Given the description of an element on the screen output the (x, y) to click on. 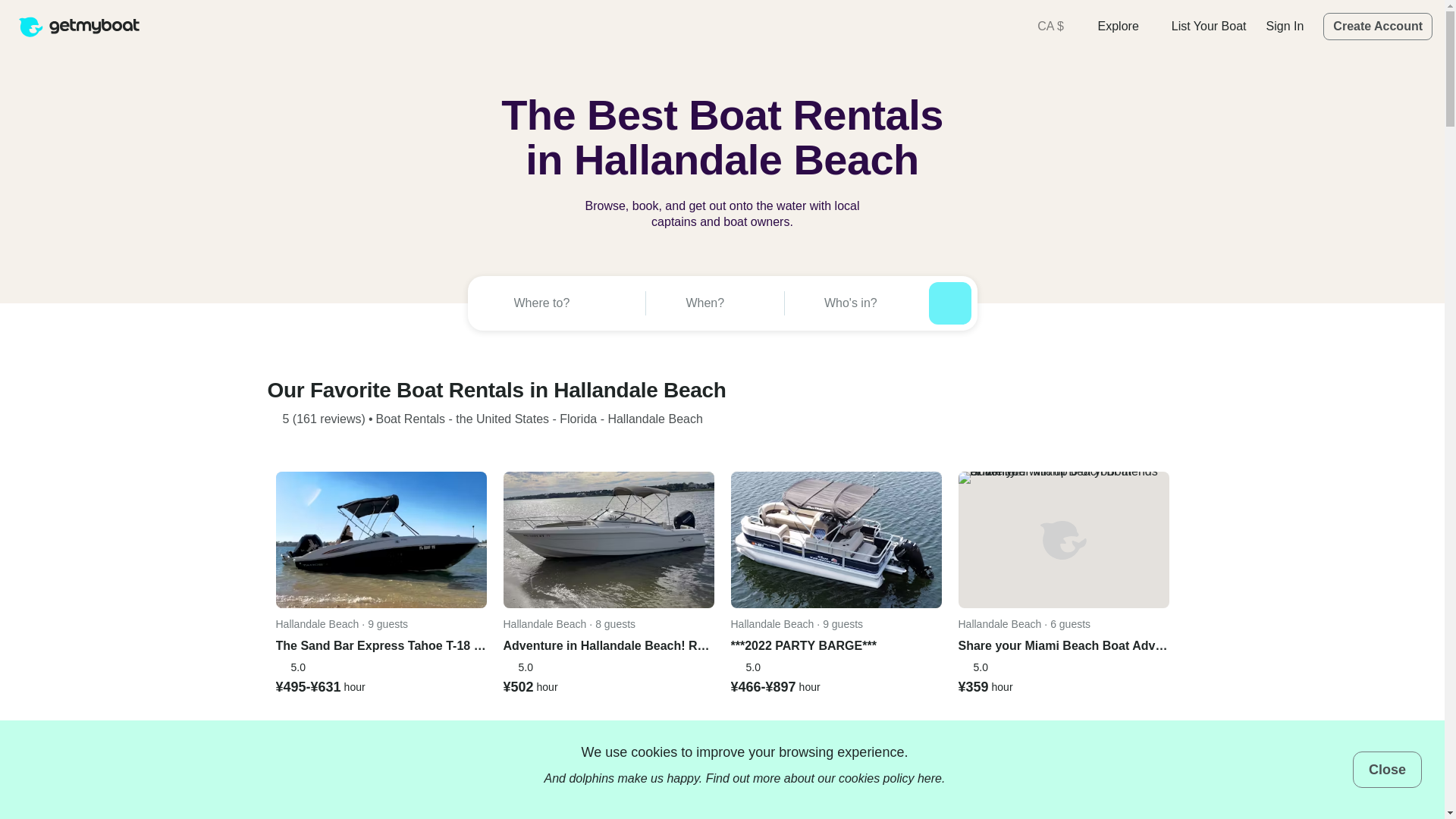
Close (1387, 769)
the United States (501, 419)
List Your Boat (1209, 26)
Florida (577, 419)
Search (949, 302)
Sign In (1285, 26)
Explore (1123, 25)
Create Account (1377, 26)
Boat Rentals (410, 419)
cookies policy here (890, 778)
